Given the description of an element on the screen output the (x, y) to click on. 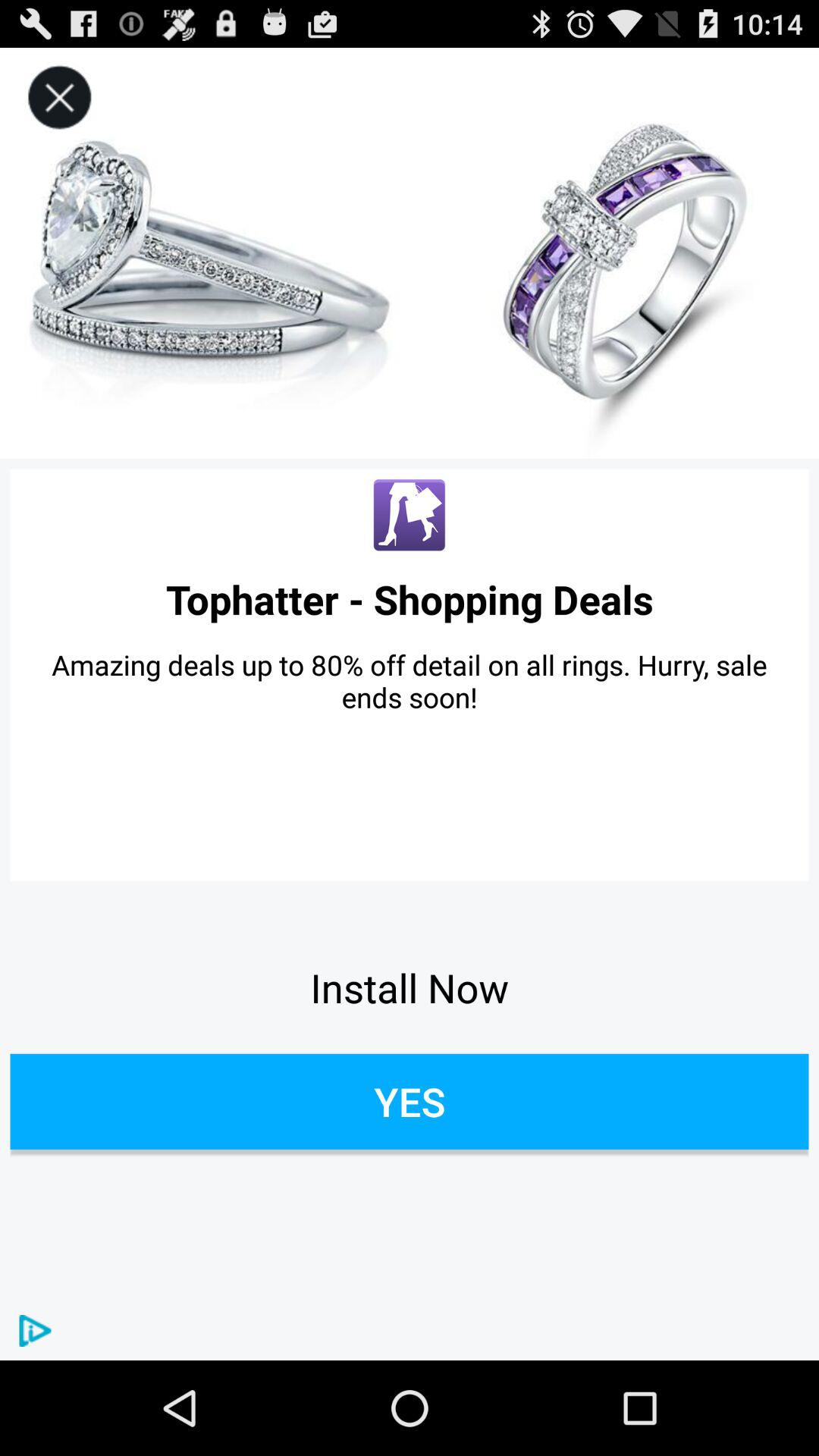
turn off icon at the top (409, 252)
